Given the description of an element on the screen output the (x, y) to click on. 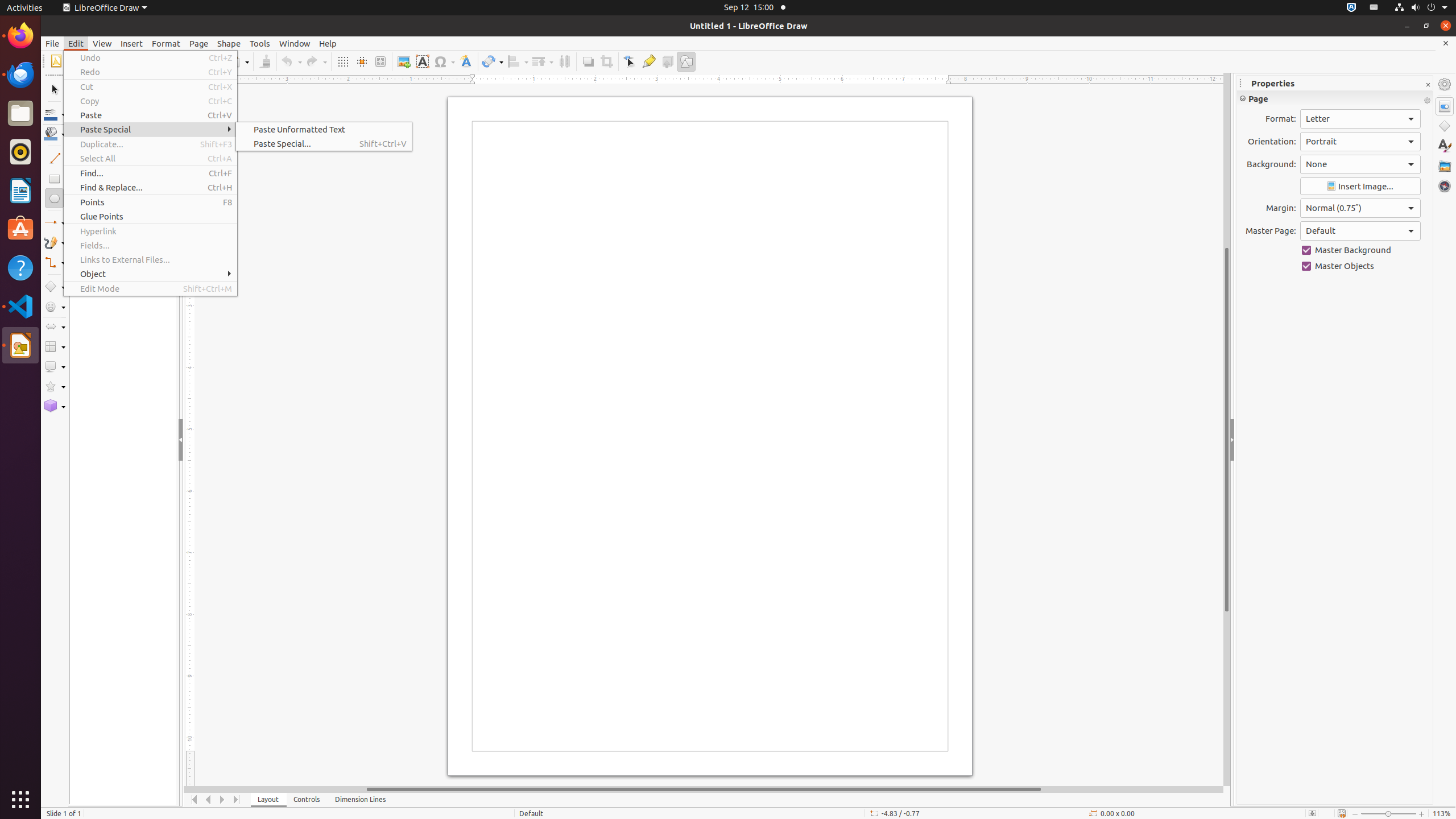
Paste Element type: menu-item (150, 115)
Redo Element type: menu-item (150, 71)
Controls Element type: page-tab (307, 799)
Paste Special... Element type: menu-item (323, 143)
